Given the description of an element on the screen output the (x, y) to click on. 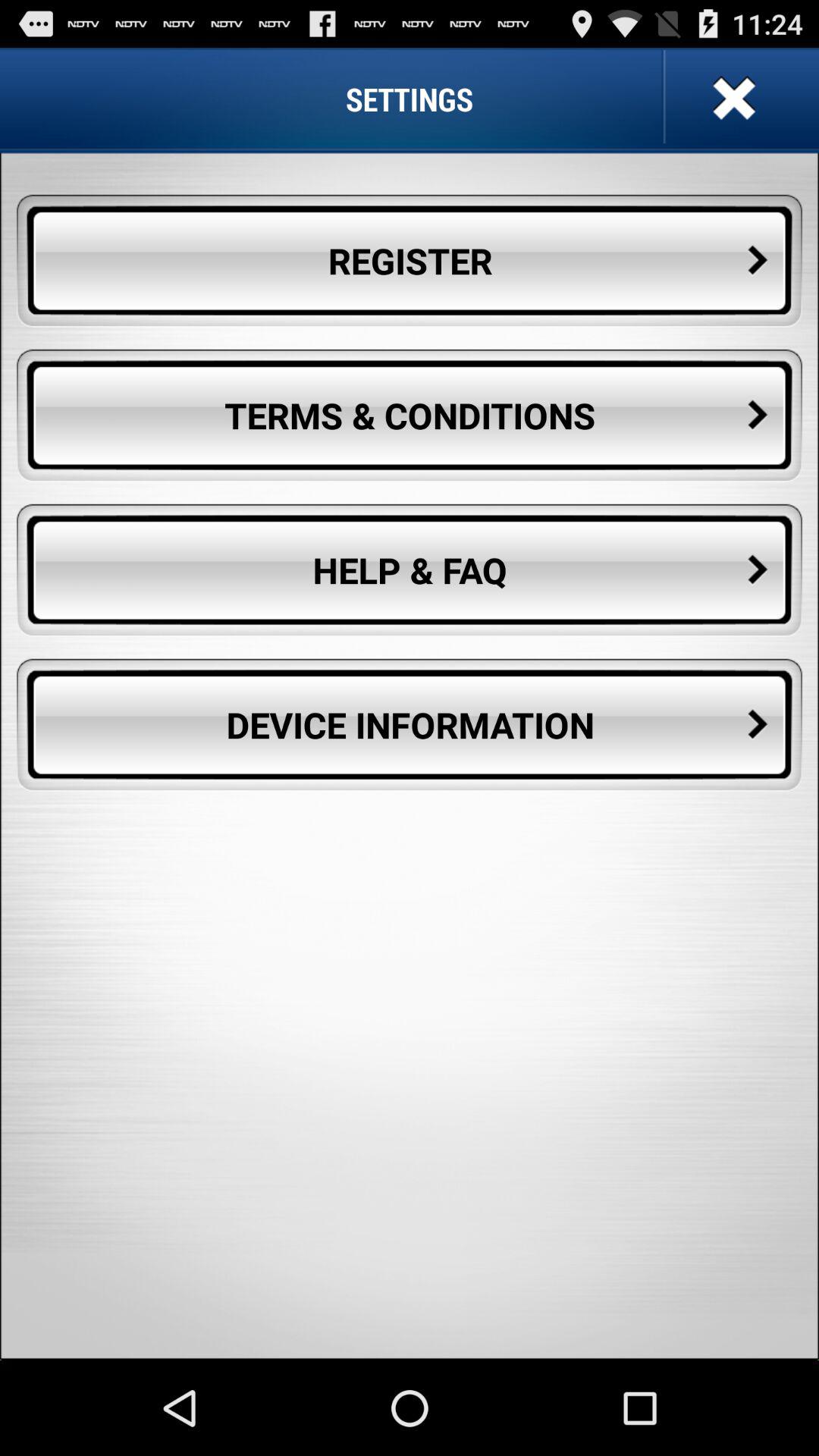
close settings (732, 99)
